Given the description of an element on the screen output the (x, y) to click on. 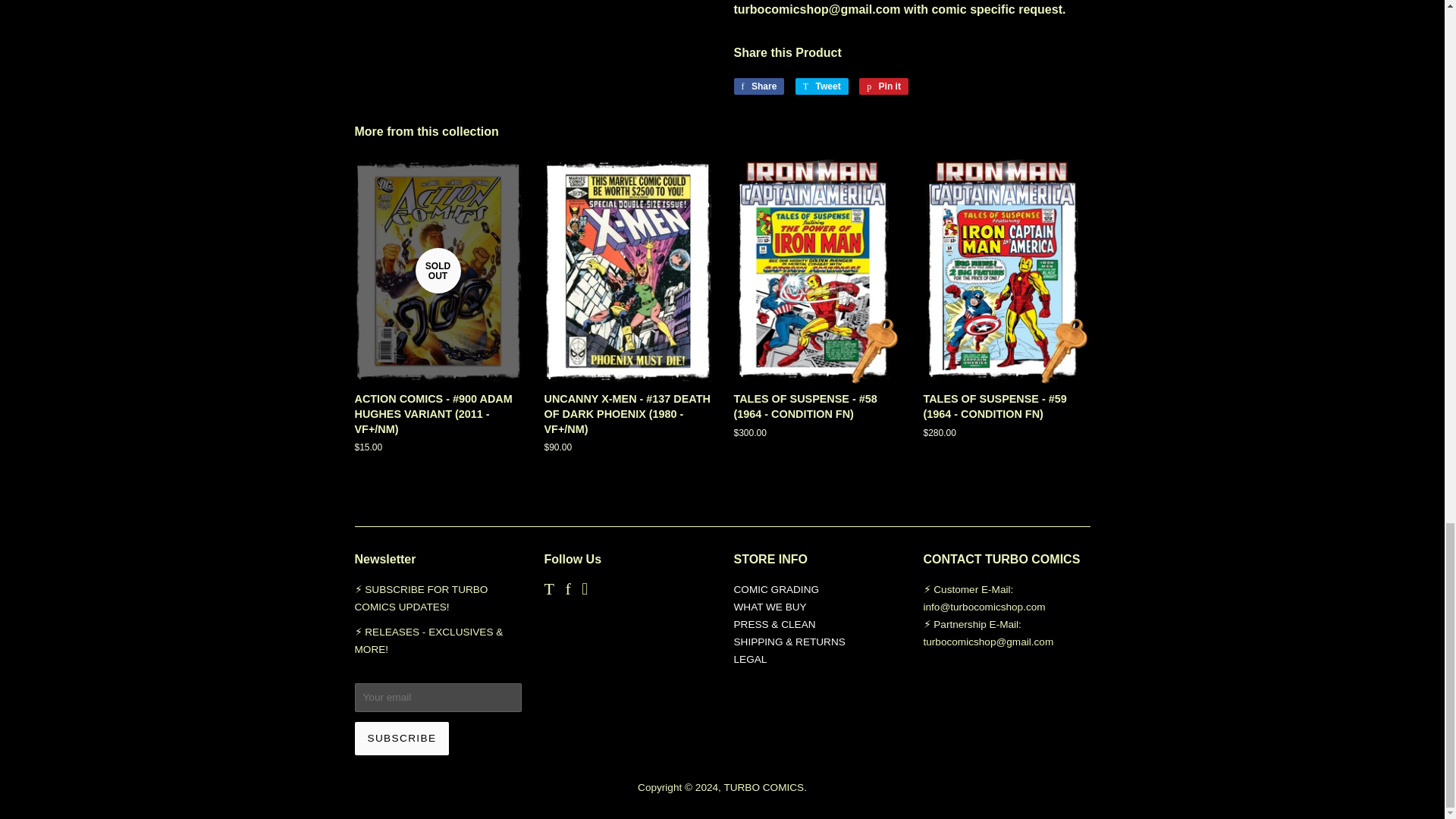
Subscribe (402, 738)
COMIC GRADING (776, 589)
Share on Facebook (758, 86)
WHAT WE BUY (769, 606)
Tweet on Twitter (821, 86)
LEGAL (750, 659)
Pin on Pinterest (883, 86)
